Given the description of an element on the screen output the (x, y) to click on. 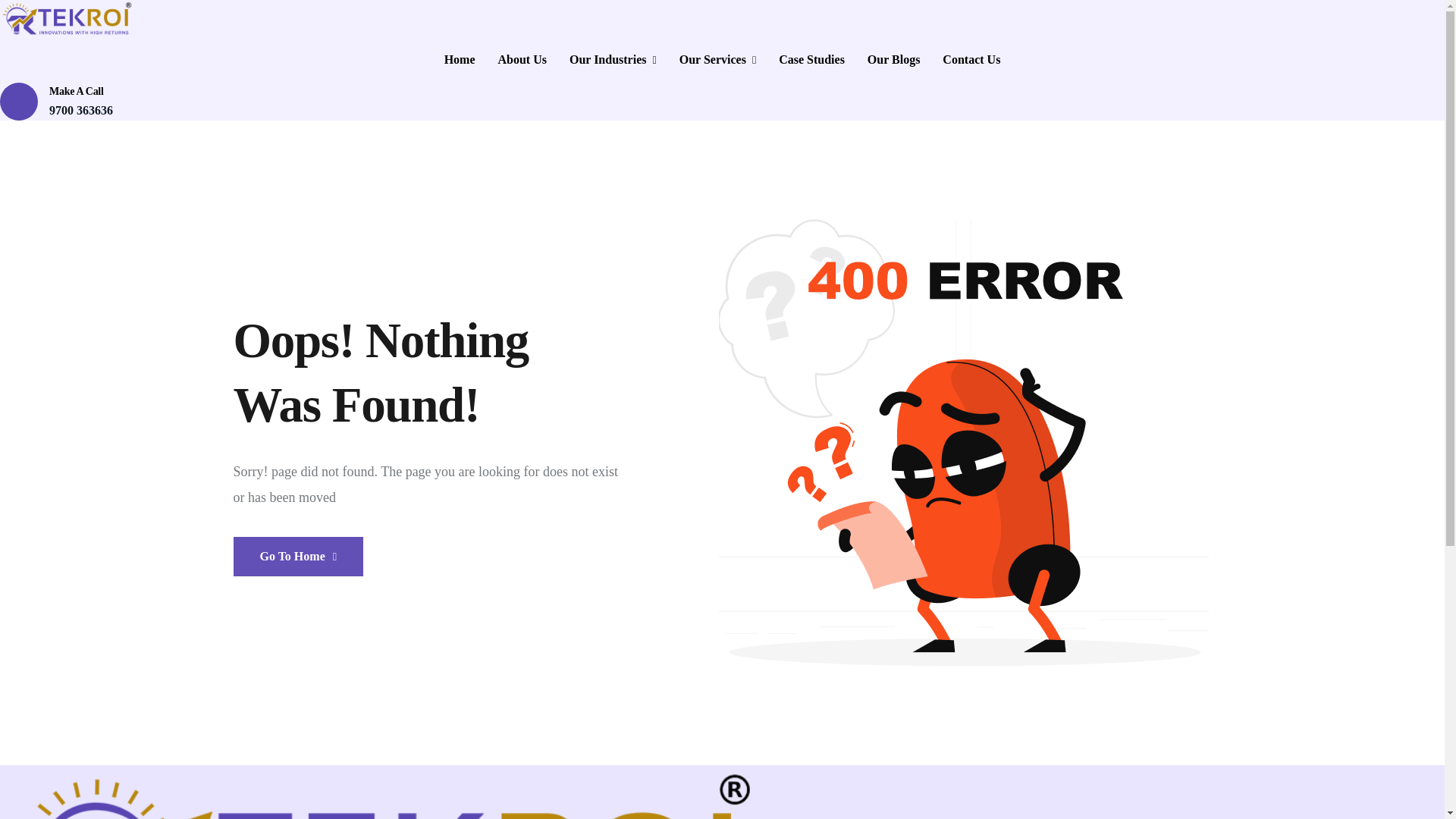
Contact Us (971, 59)
About Us (522, 59)
Our Industries (613, 59)
Our Blogs (893, 59)
Case Studies (811, 59)
Our Services (717, 59)
